Given the description of an element on the screen output the (x, y) to click on. 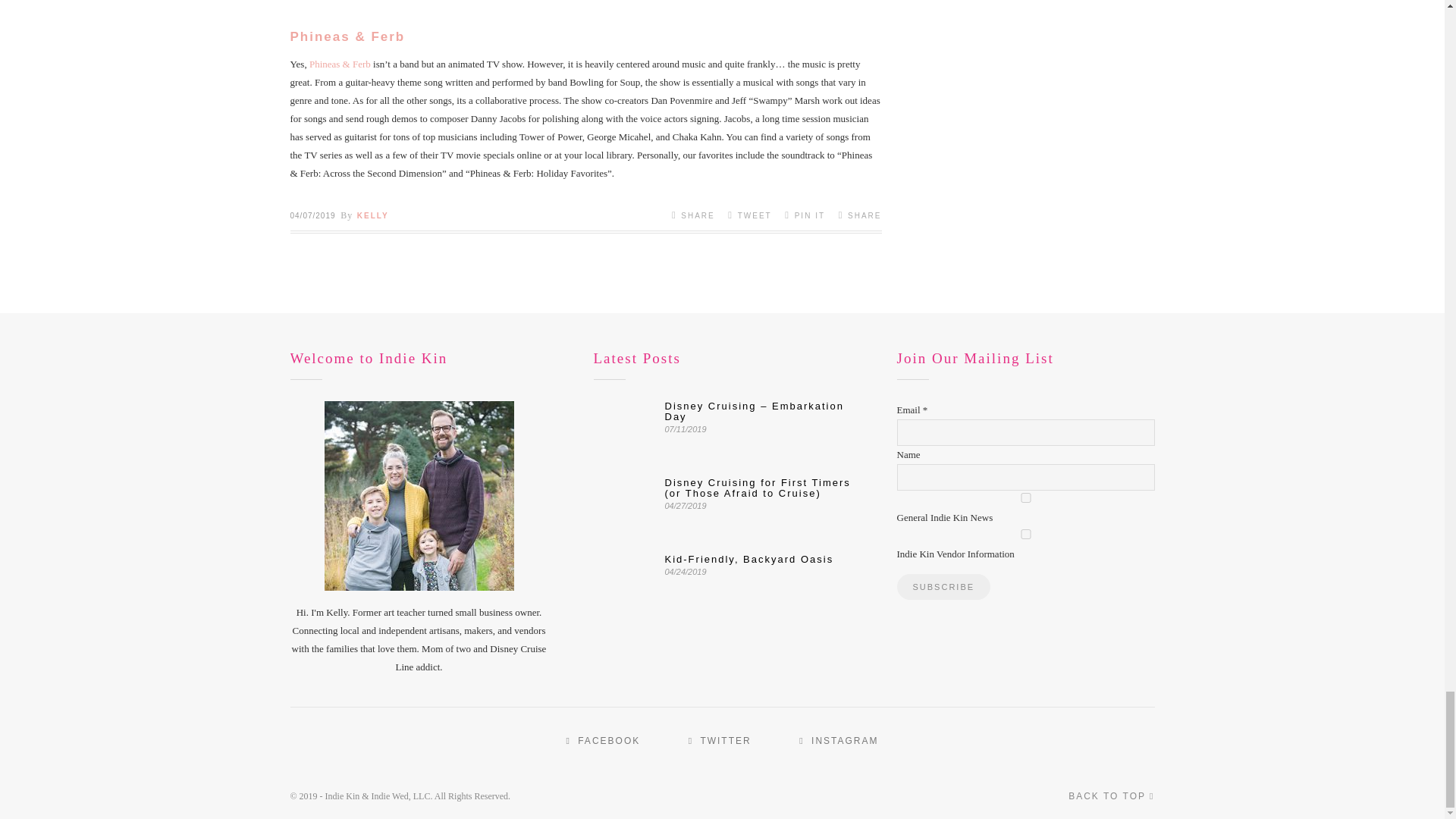
6656156 (1025, 497)
KELLY (372, 215)
SHARE (692, 214)
6656157 (1025, 533)
PIN IT (804, 214)
Posts by Kelly (372, 215)
TWEET (749, 214)
Subscribe (943, 586)
